Given the description of an element on the screen output the (x, y) to click on. 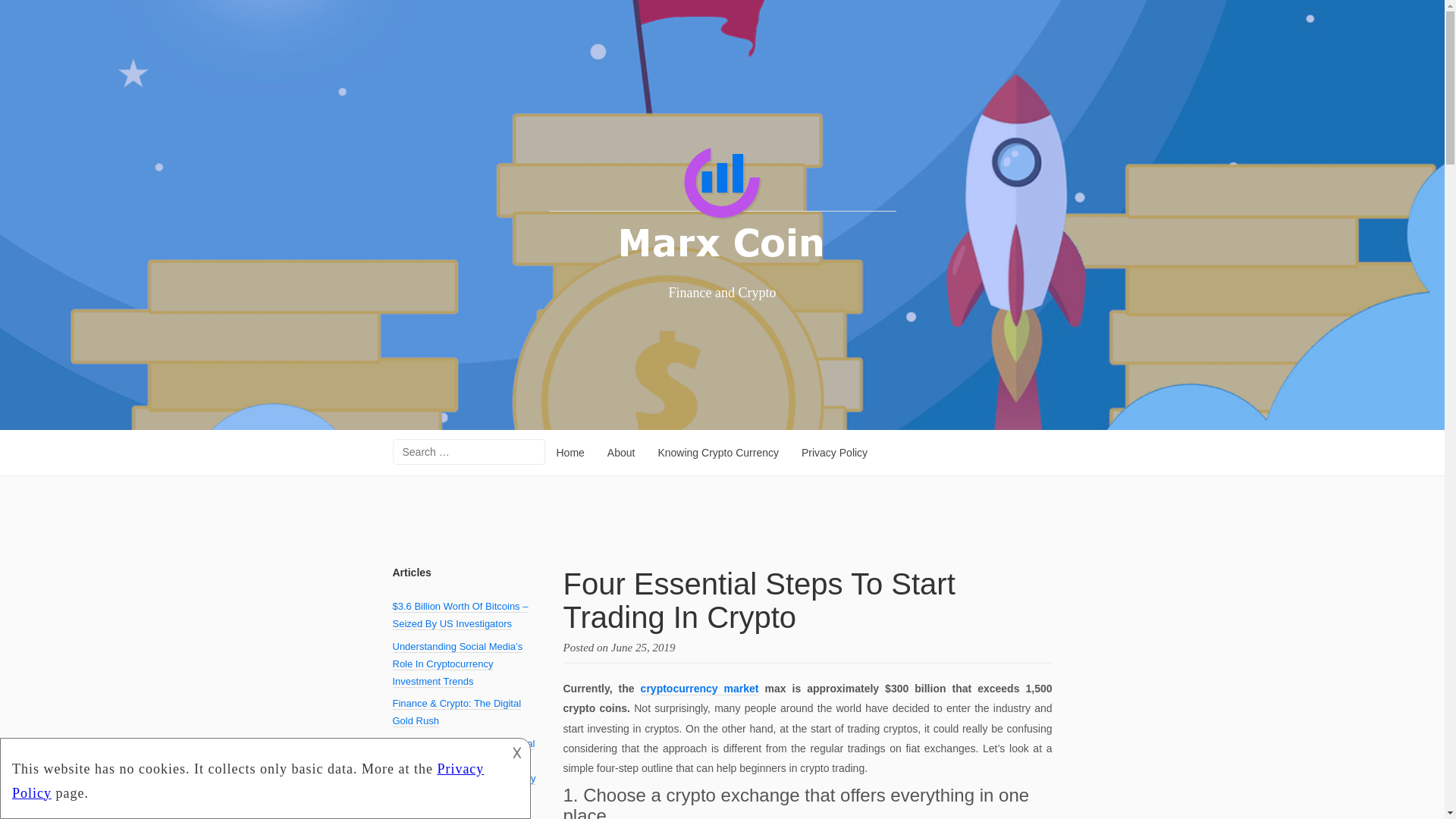
Home (569, 452)
Marx Coin (722, 204)
June 25, 2019 (643, 647)
About (620, 452)
Knowing Crypto Currency (718, 452)
Investing In Bitcoin: Is Now The Right Time? (462, 807)
Four Essential Steps To Start Trading In Crypto (758, 600)
Home (569, 452)
About (620, 452)
Four Essential Steps To Start Trading In Crypto (643, 647)
Privacy Policy (834, 452)
Search (24, 10)
Knowing Crypto Currency (718, 452)
cryptocurrency market (699, 688)
description (252, 776)
